Given the description of an element on the screen output the (x, y) to click on. 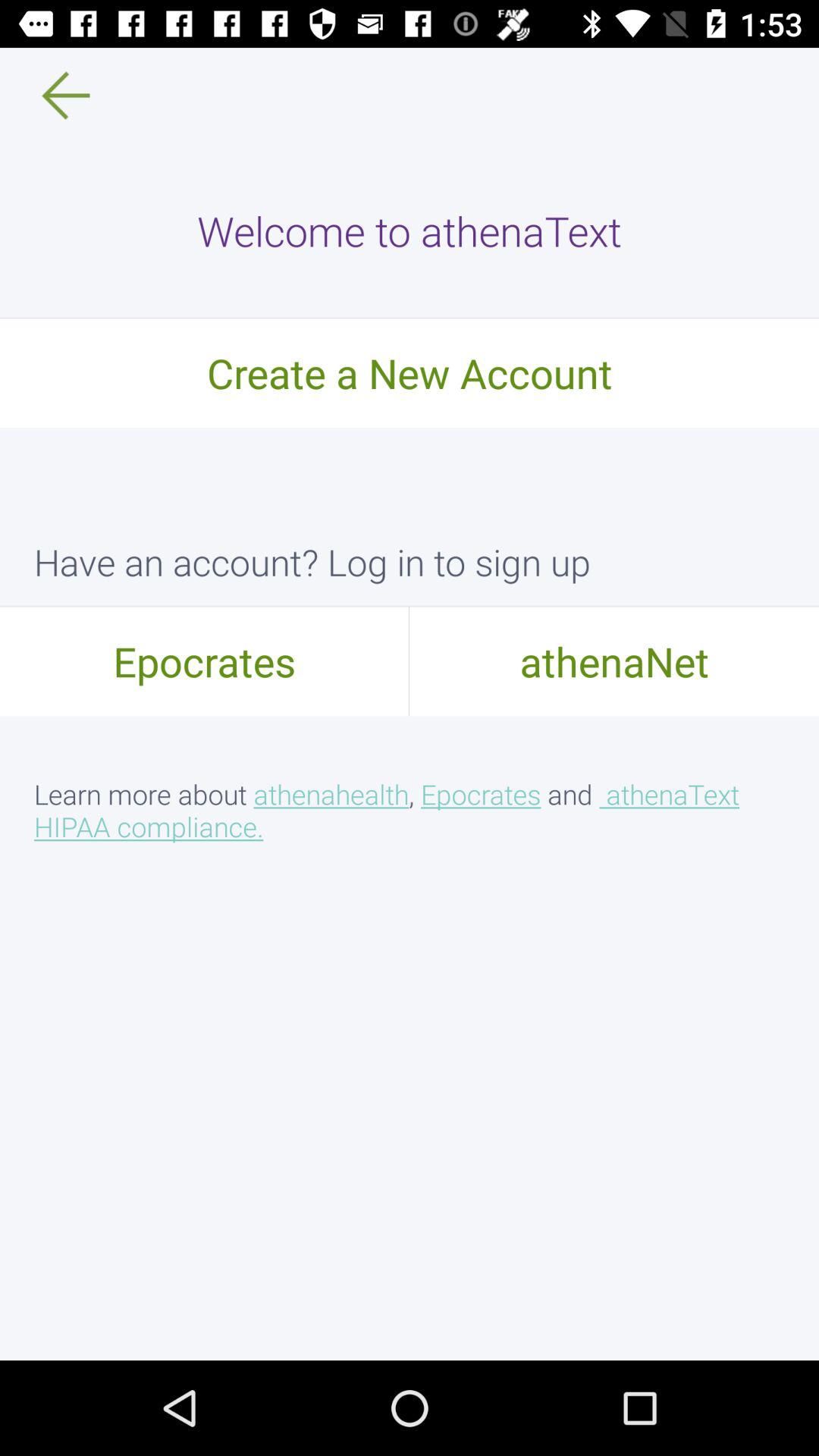
flip until athenanet icon (614, 661)
